Given the description of an element on the screen output the (x, y) to click on. 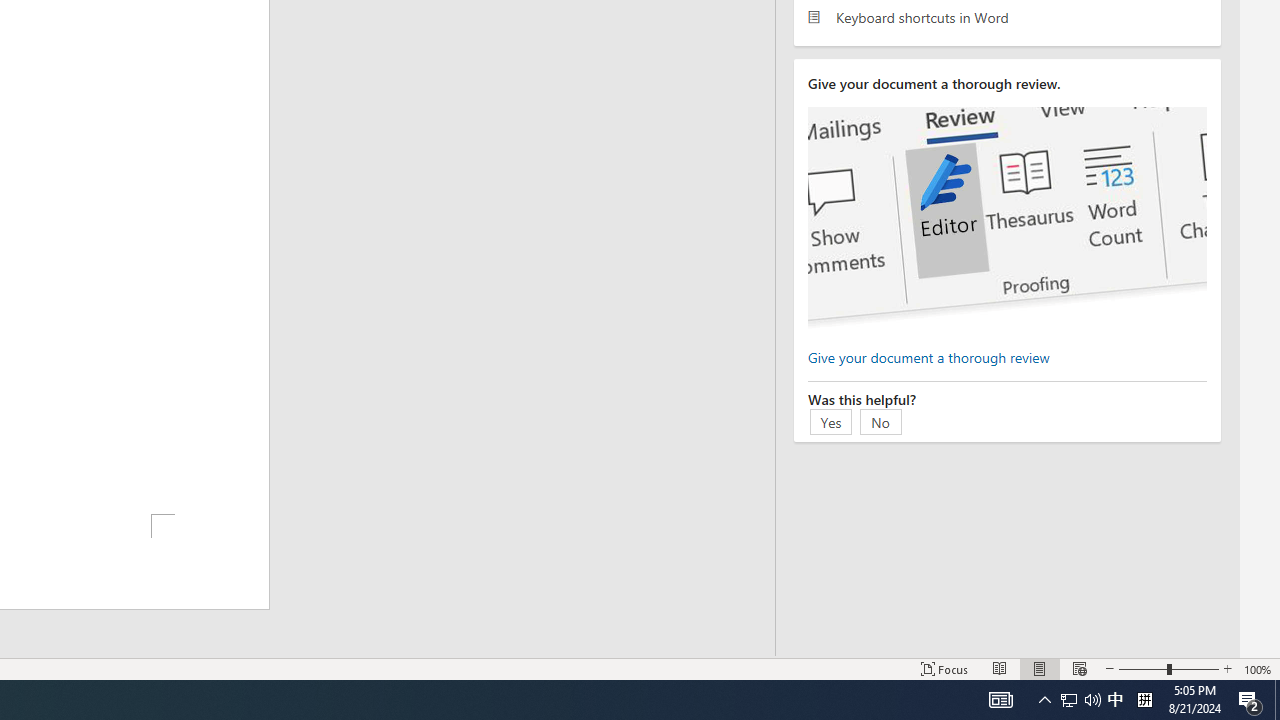
editor ui screenshot (1007, 218)
Keyboard shortcuts in Word (1007, 16)
Zoom 100% (1258, 668)
No (881, 421)
Give your document a thorough review (928, 356)
Yes (831, 421)
